Given the description of an element on the screen output the (x, y) to click on. 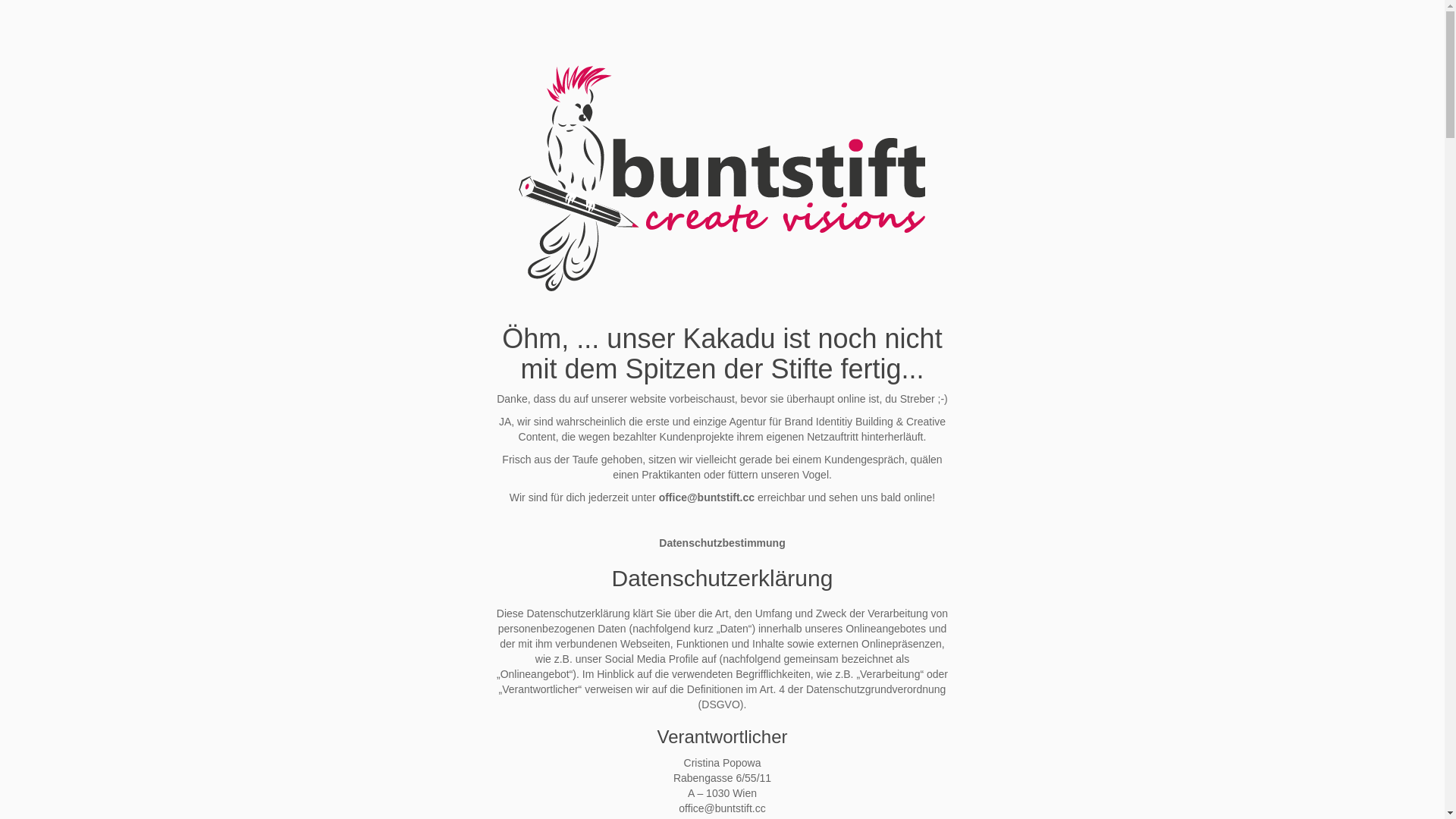
office@buntstift.cc Element type: text (706, 497)
